Given the description of an element on the screen output the (x, y) to click on. 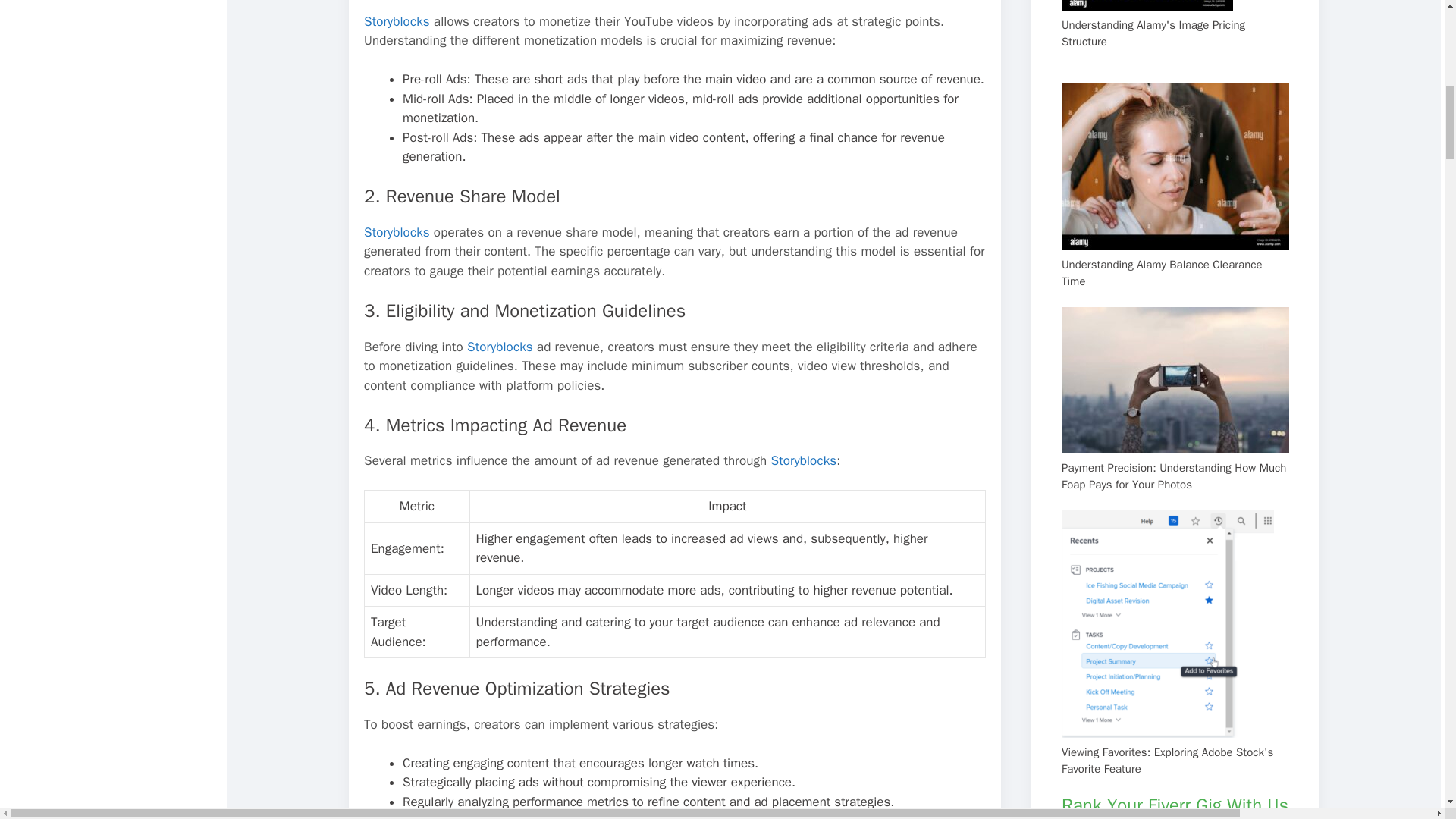
Storyblocks (396, 21)
